Given the description of an element on the screen output the (x, y) to click on. 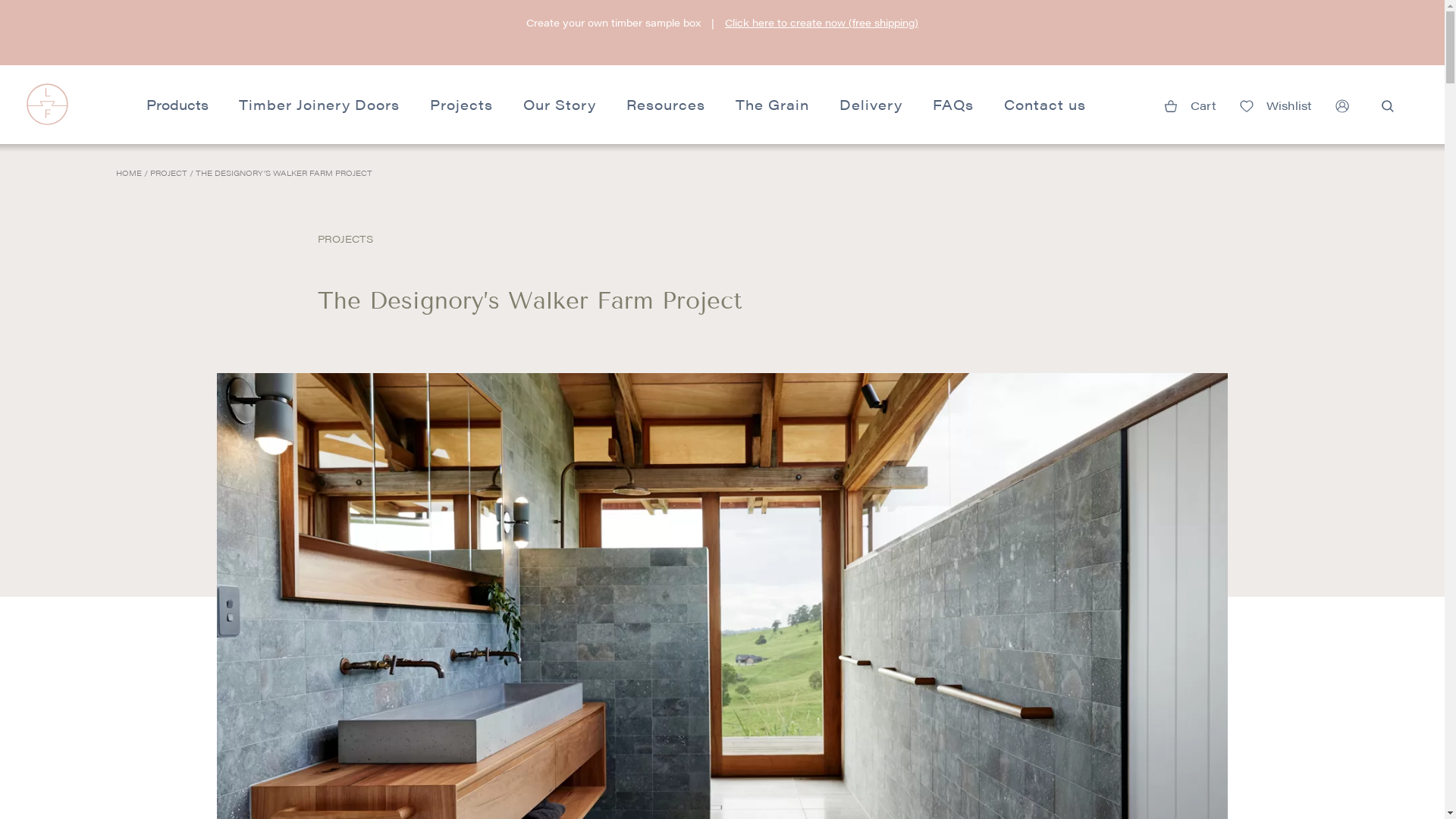
Projects Element type: text (460, 103)
FAQs Element type: text (952, 103)
Delivery Element type: text (869, 103)
Click here to create now (free shipping) Element type: text (821, 22)
The Grain Element type: text (772, 103)
Contact us Element type: text (1044, 103)
Our Story Element type: text (559, 103)
Timber Joinery Doors Element type: text (318, 103)
View contents of your shopping cart
Cart Element type: text (1189, 103)
Products Element type: text (176, 104)
View products added to your wishlist
Wishlist Element type: text (1275, 103)
My account Element type: text (1341, 103)
Search Element type: text (1387, 104)
Resources Element type: text (665, 103)
Autorun home page Element type: hover (47, 118)
PROJECT Element type: text (168, 172)
HOME Element type: text (128, 172)
